Given the description of an element on the screen output the (x, y) to click on. 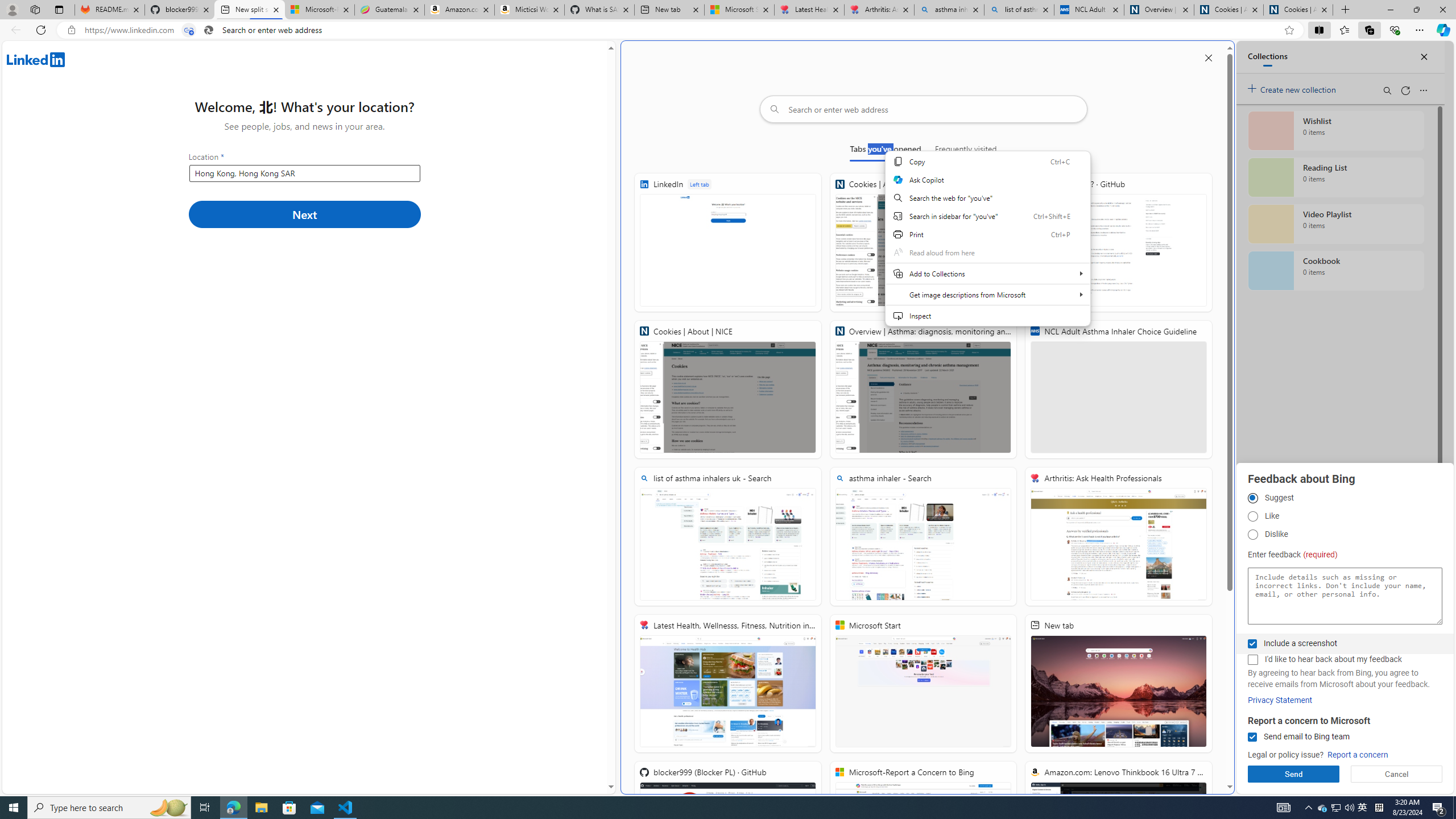
LinkedIn (727, 242)
Search icon (208, 29)
Like (1252, 516)
Copy (987, 161)
Get image descriptions from Microsoft (987, 294)
